Given the description of an element on the screen output the (x, y) to click on. 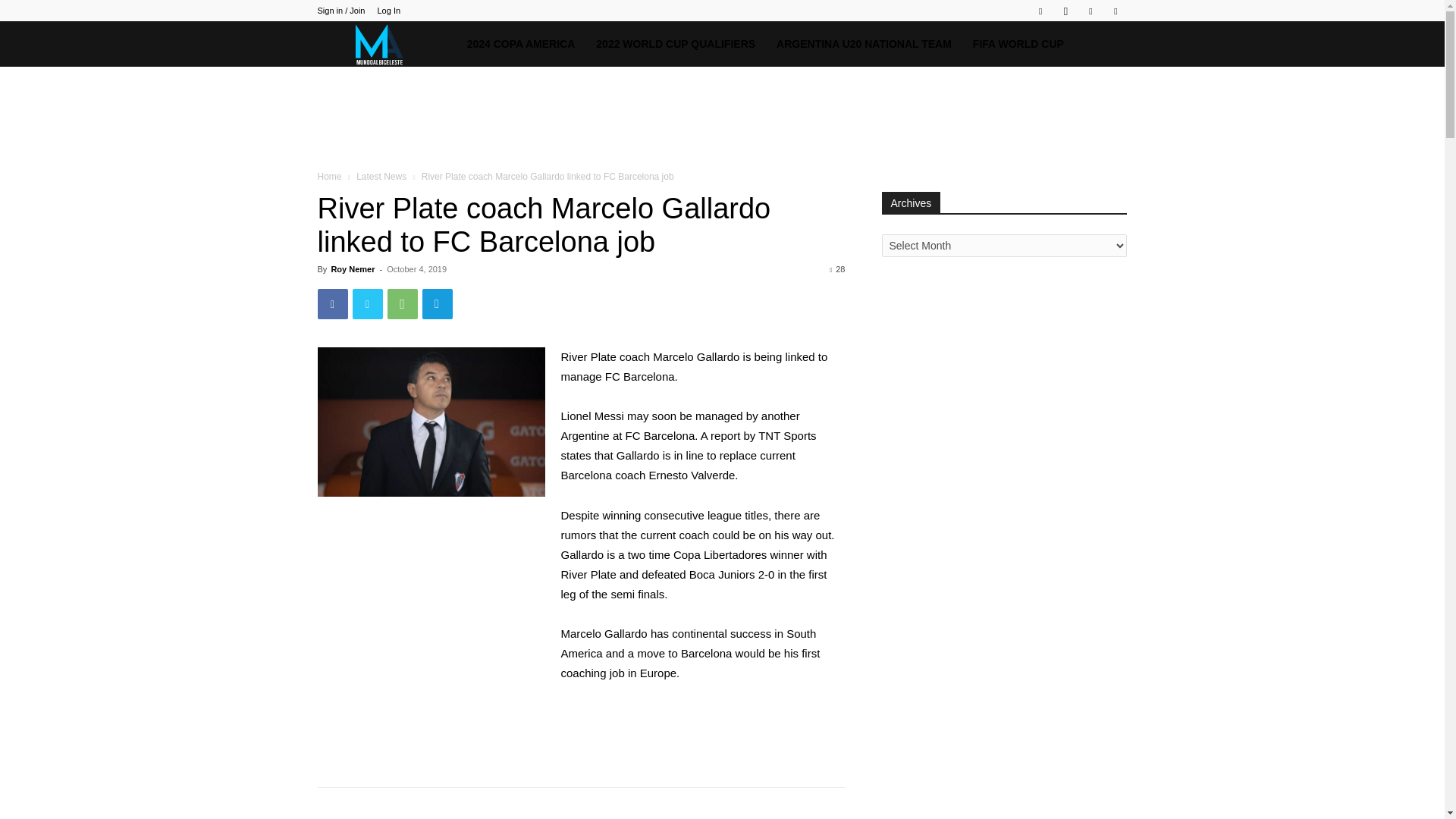
Facebook (1040, 10)
FIFA WORLD CUP (1018, 43)
28 (837, 268)
Latest News (381, 176)
Advertisement (721, 119)
2024 COPA AMERICA (521, 43)
Twitter (1090, 10)
Log In (388, 10)
2022 WORLD CUP QUALIFIERS (675, 43)
Instagram (1065, 10)
Roy Nemer (352, 268)
View all posts in Latest News (381, 176)
Facebook (332, 304)
Youtube (1114, 10)
Home (328, 176)
